Given the description of an element on the screen output the (x, y) to click on. 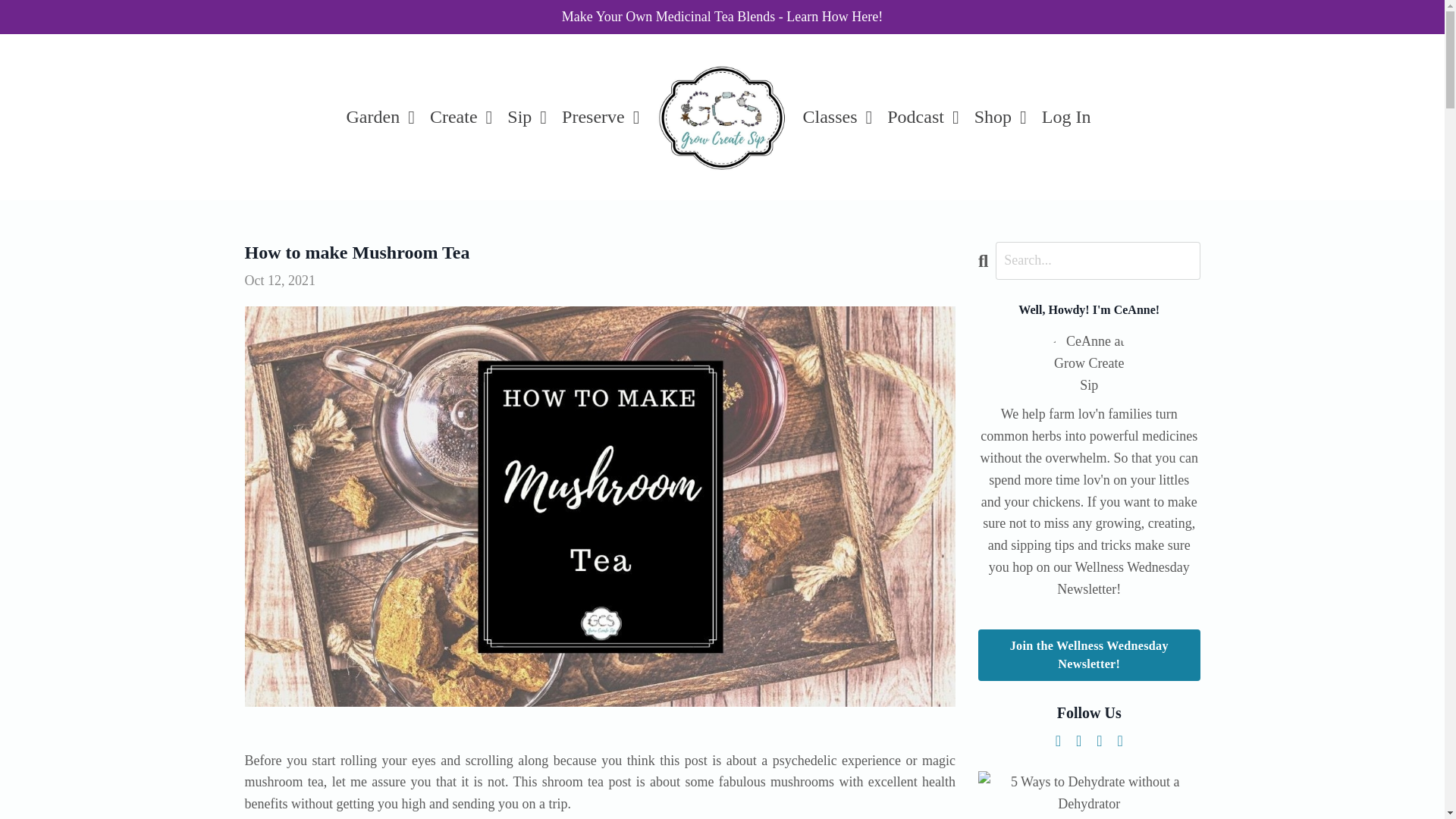
Sip (526, 116)
Log In (1066, 116)
Garden (380, 116)
Podcast (922, 116)
Create (460, 116)
Preserve (600, 116)
Shop (1000, 116)
Classes (837, 116)
